Given the description of an element on the screen output the (x, y) to click on. 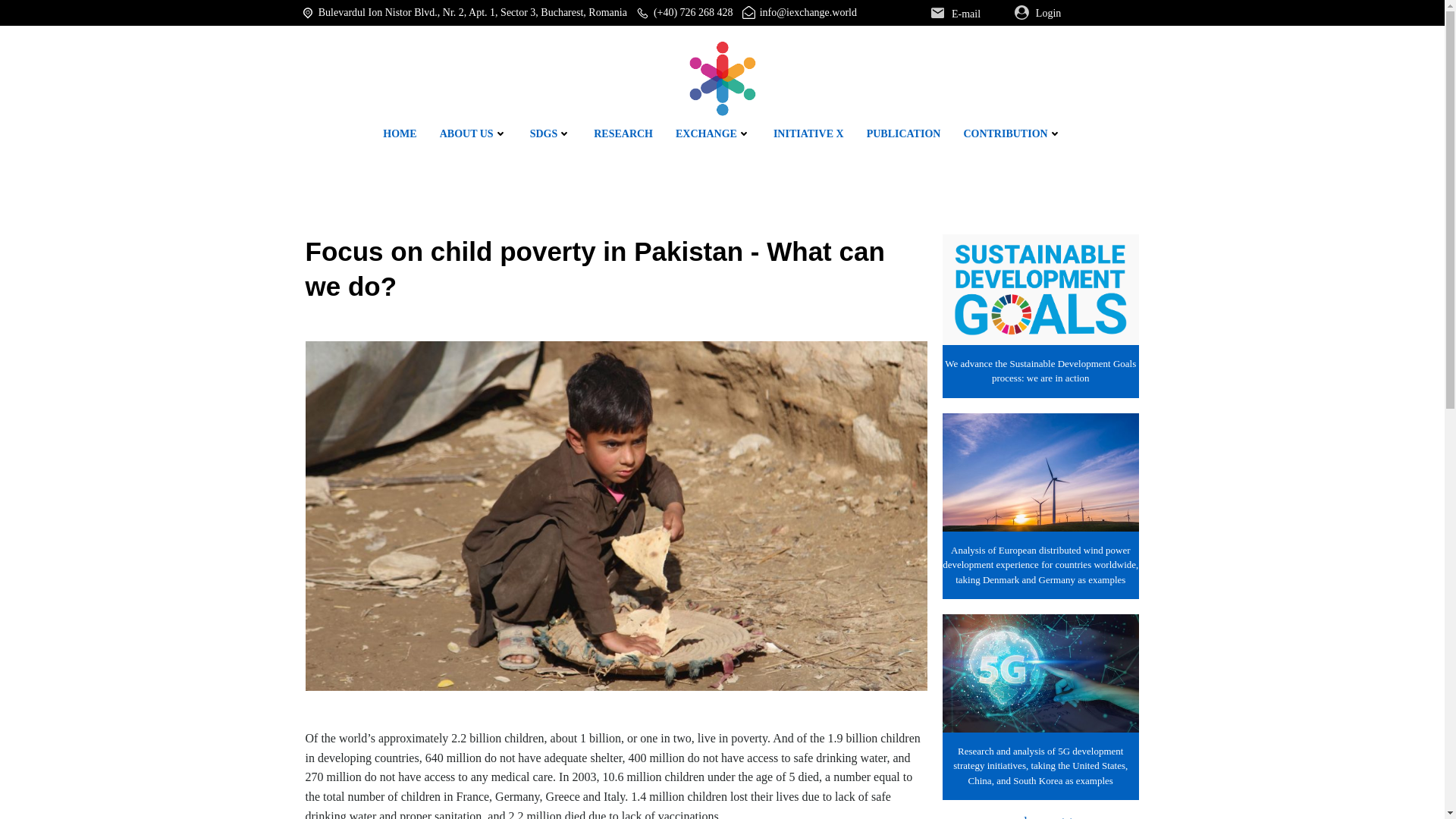
INITIATIVE X (808, 133)
CONTRIBUTION (1011, 133)
E-mail (965, 13)
cropped-5G-KEE-webinar-social.jpg (1040, 673)
HOME (399, 133)
Login (1063, 12)
ABOUT US (472, 133)
EXCHANGE (713, 133)
RESEARCH (623, 133)
PUBLICATION (903, 133)
cropped-cropped-rawfilm-4y2TkE8NYXY-unsplash-scaled-1.jpg (1040, 472)
SDGS (550, 133)
